Given the description of an element on the screen output the (x, y) to click on. 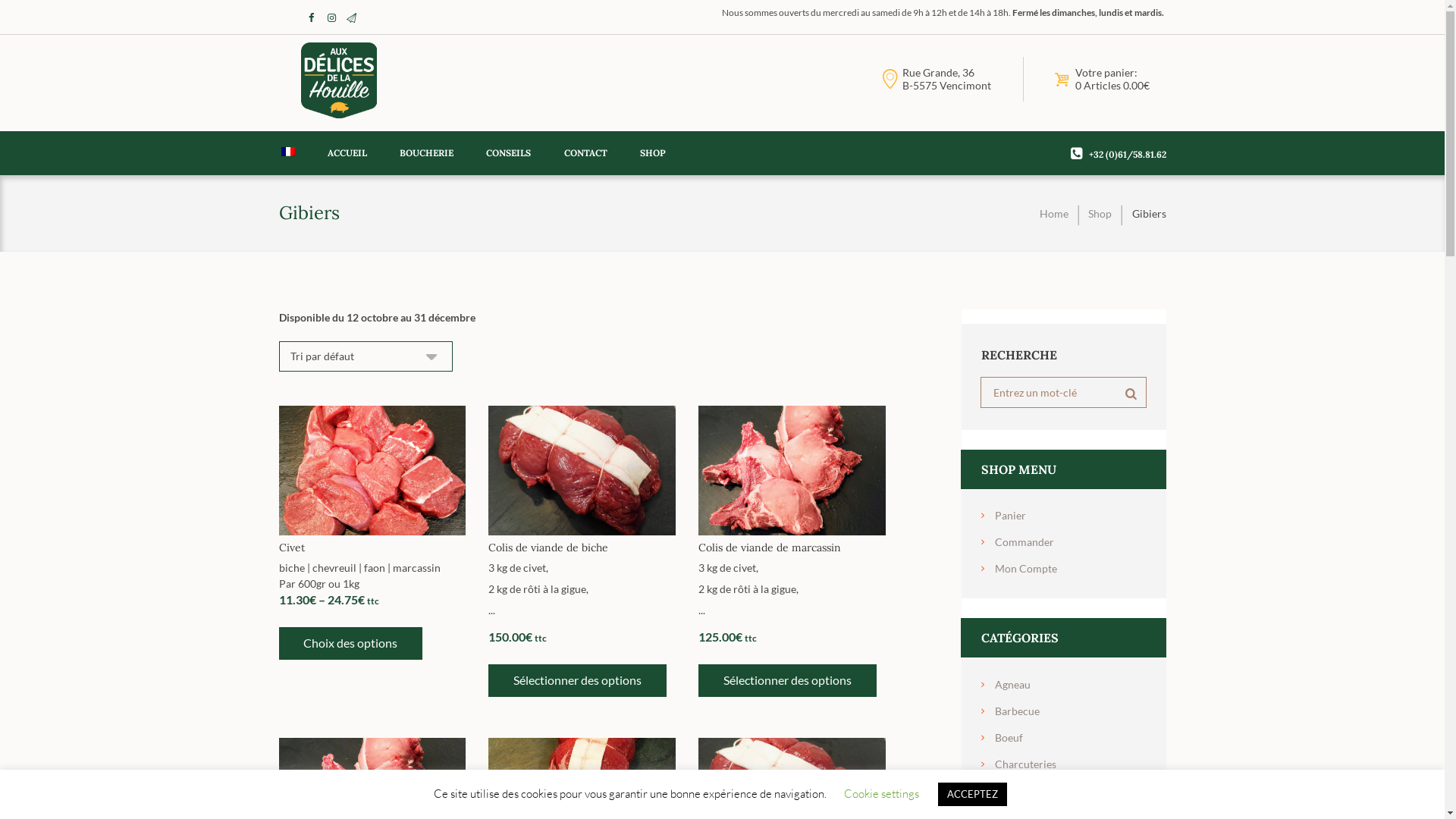
Charcuteries Element type: text (1025, 763)
+32 (0)61/58.81.62 Element type: text (1127, 154)
BOUCHERIE Element type: text (426, 153)
CONSEILS Element type: text (508, 153)
Boeuf Element type: text (1008, 737)
Mon Compte Element type: text (1025, 567)
Colis Element type: text (1006, 790)
Shop Element type: text (1099, 213)
Choix des options Element type: text (351, 643)
ACCUEIL Element type: text (346, 153)
Barbecue Element type: text (1016, 710)
Cookie settings Element type: text (881, 793)
ACCEPTEZ Element type: text (972, 794)
CONTACT Element type: text (585, 153)
Commander Element type: text (1024, 541)
Civet Element type: text (291, 547)
SHOP Element type: text (652, 153)
Search for: Element type: hover (1063, 392)
Colis de viande de marcassin Element type: text (769, 547)
Home Element type: text (1053, 213)
Agneau Element type: text (1012, 683)
Colis de viande de biche Element type: text (548, 547)
Panier Element type: text (1010, 514)
